Given the description of an element on the screen output the (x, y) to click on. 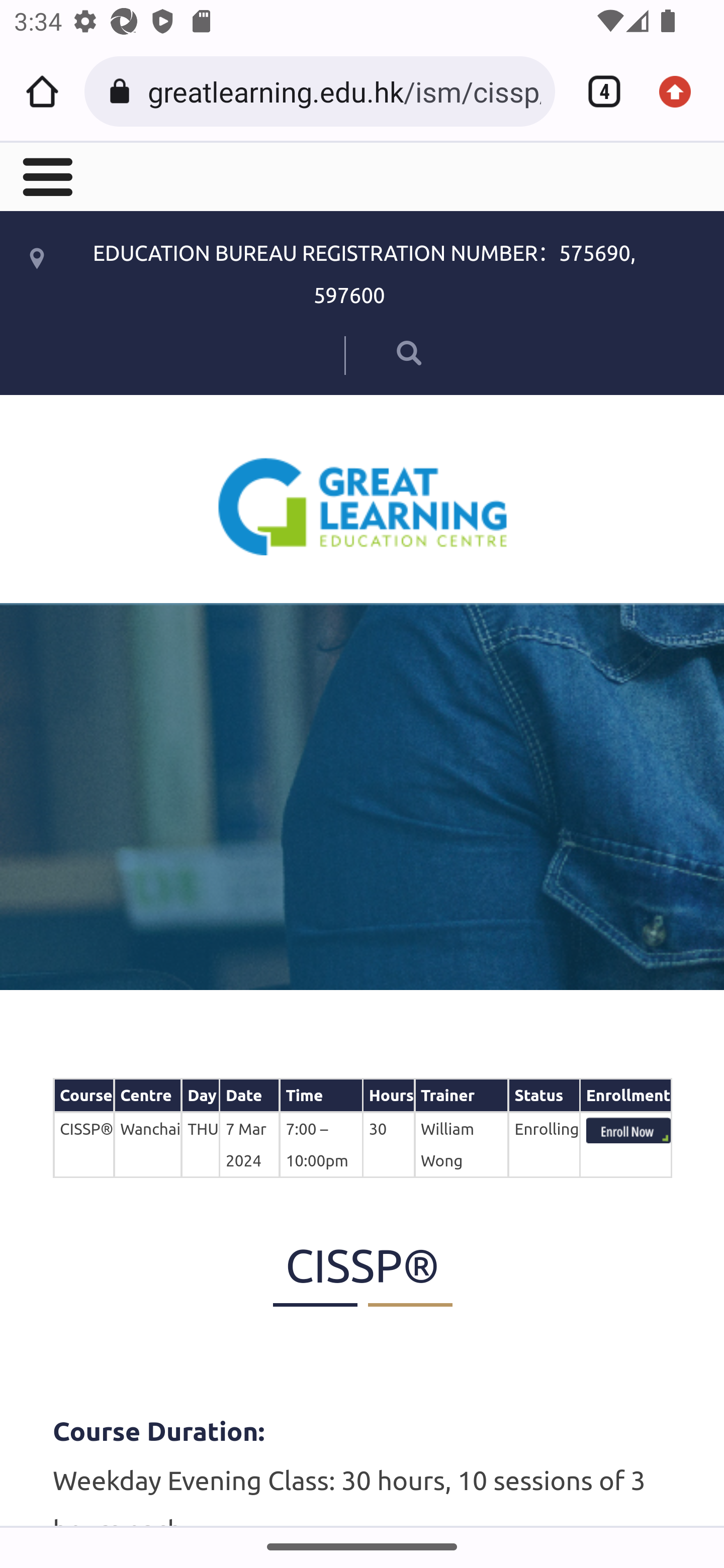
Home (42, 91)
Connection is secure (122, 91)
Switch or close tabs (597, 91)
Update available. More options (681, 91)
 (45, 175)
 (382, 351)
Welcome to Great Learning Education Centre (362, 505)
index (627, 1130)
